Given the description of an element on the screen output the (x, y) to click on. 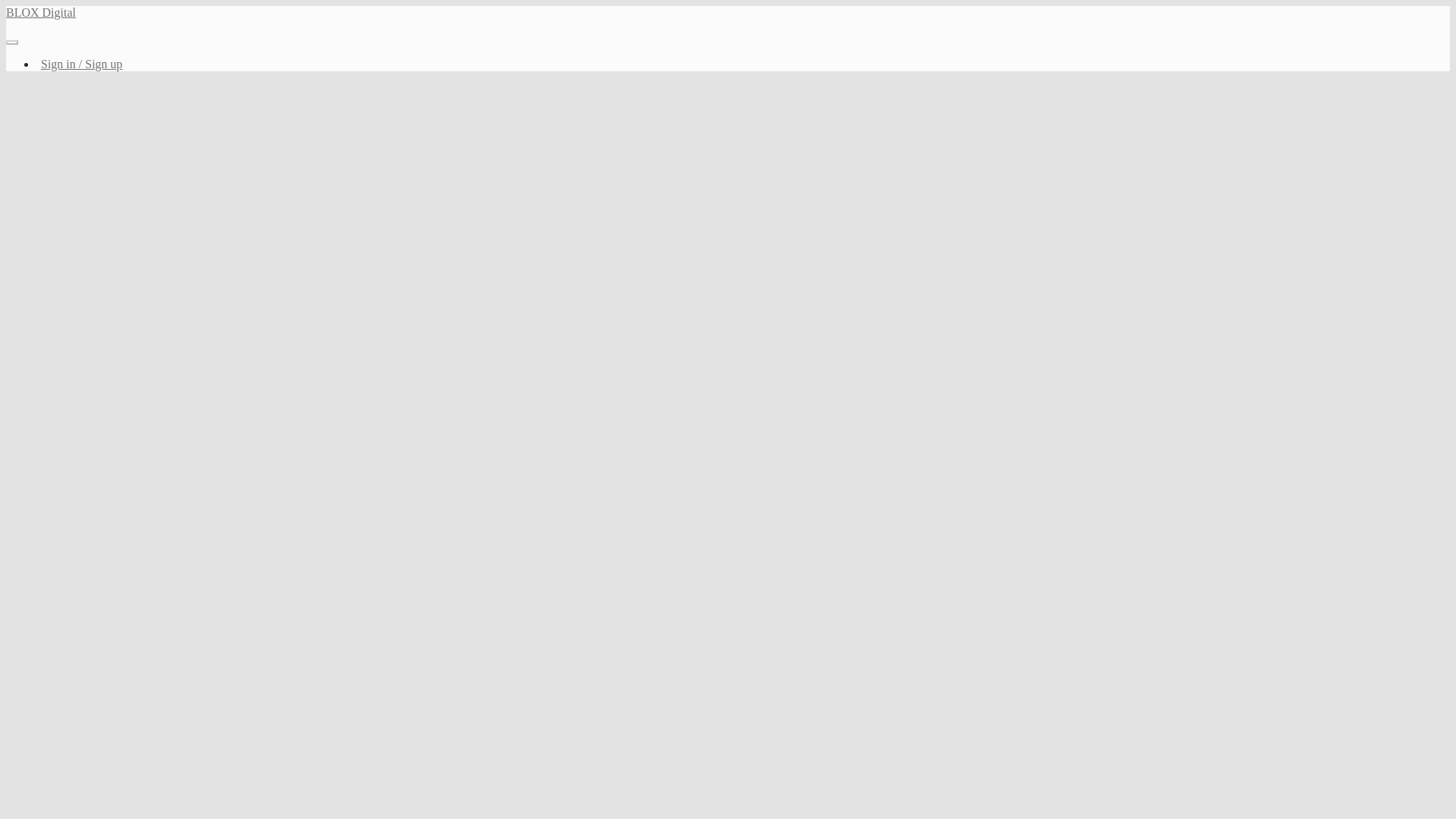
BLOX Digital (40, 11)
